Given the description of an element on the screen output the (x, y) to click on. 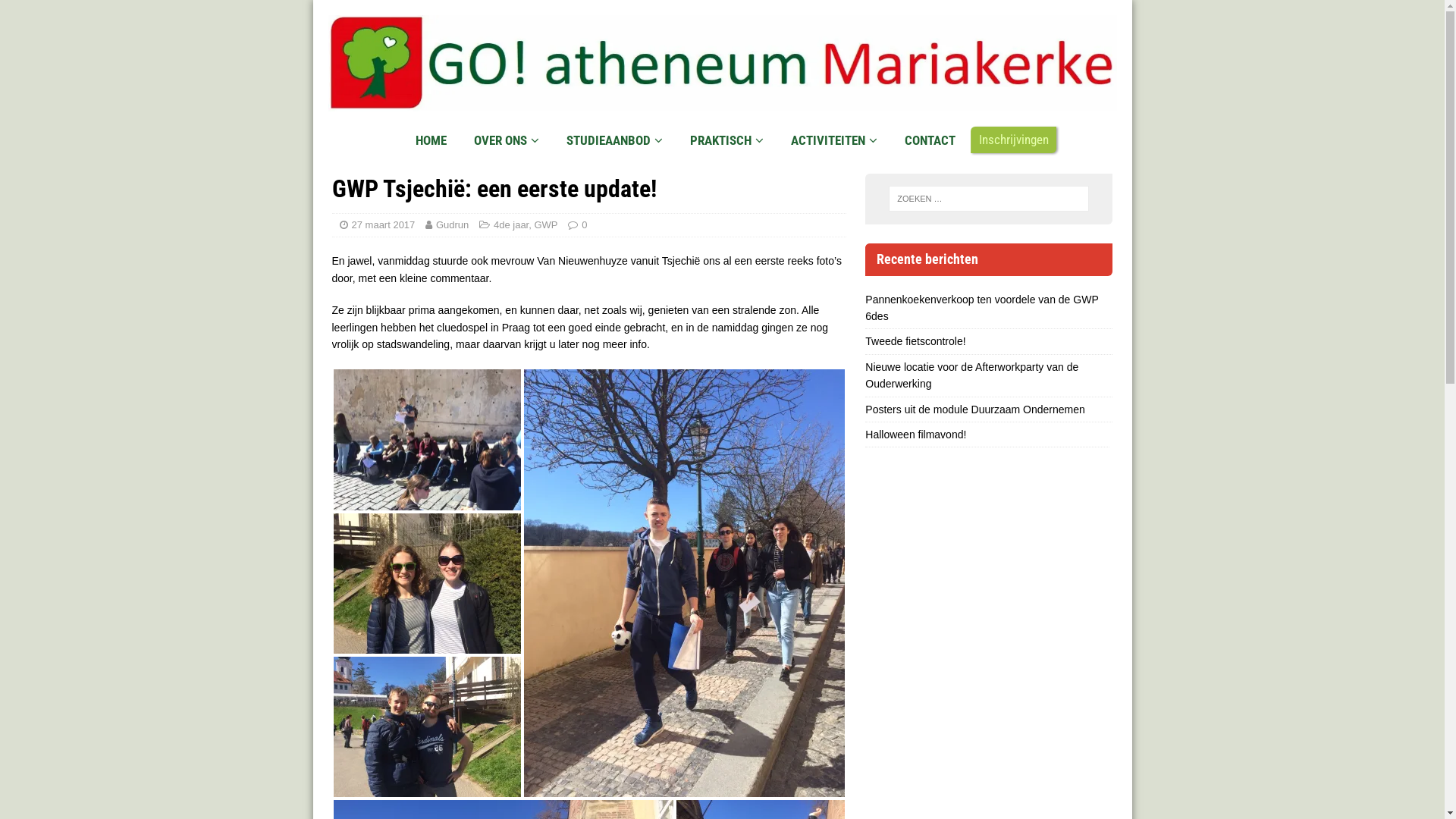
0 Element type: text (583, 224)
CONTACT Element type: text (928, 140)
Inschrijvingen Element type: text (1013, 139)
Posters uit de module Duurzaam Ondernemen Element type: text (974, 409)
Gudrun Element type: text (452, 224)
4de jaar Element type: text (510, 224)
Zoeken Element type: text (56, 11)
IMG_2638 Element type: hover (426, 439)
Halloween filmavond! Element type: text (915, 434)
IMG_2641 Element type: hover (426, 583)
Nieuwe locatie voor de Afterworkparty van de Ouderwerking Element type: text (971, 374)
IMG_2644 Element type: hover (683, 583)
HOME Element type: text (430, 140)
ACTIVITEITEN Element type: text (833, 140)
OVER ONS Element type: text (505, 140)
Tweede fietscontrole! Element type: text (915, 341)
IMG_2640 Element type: hover (426, 726)
PRAKTISCH Element type: text (726, 140)
STUDIEAANBOD Element type: text (613, 140)
Pannenkoekenverkoop ten voordele van de GWP 6des Element type: text (981, 307)
GWP Element type: text (545, 224)
27 maart 2017 Element type: text (383, 224)
